Given the description of an element on the screen output the (x, y) to click on. 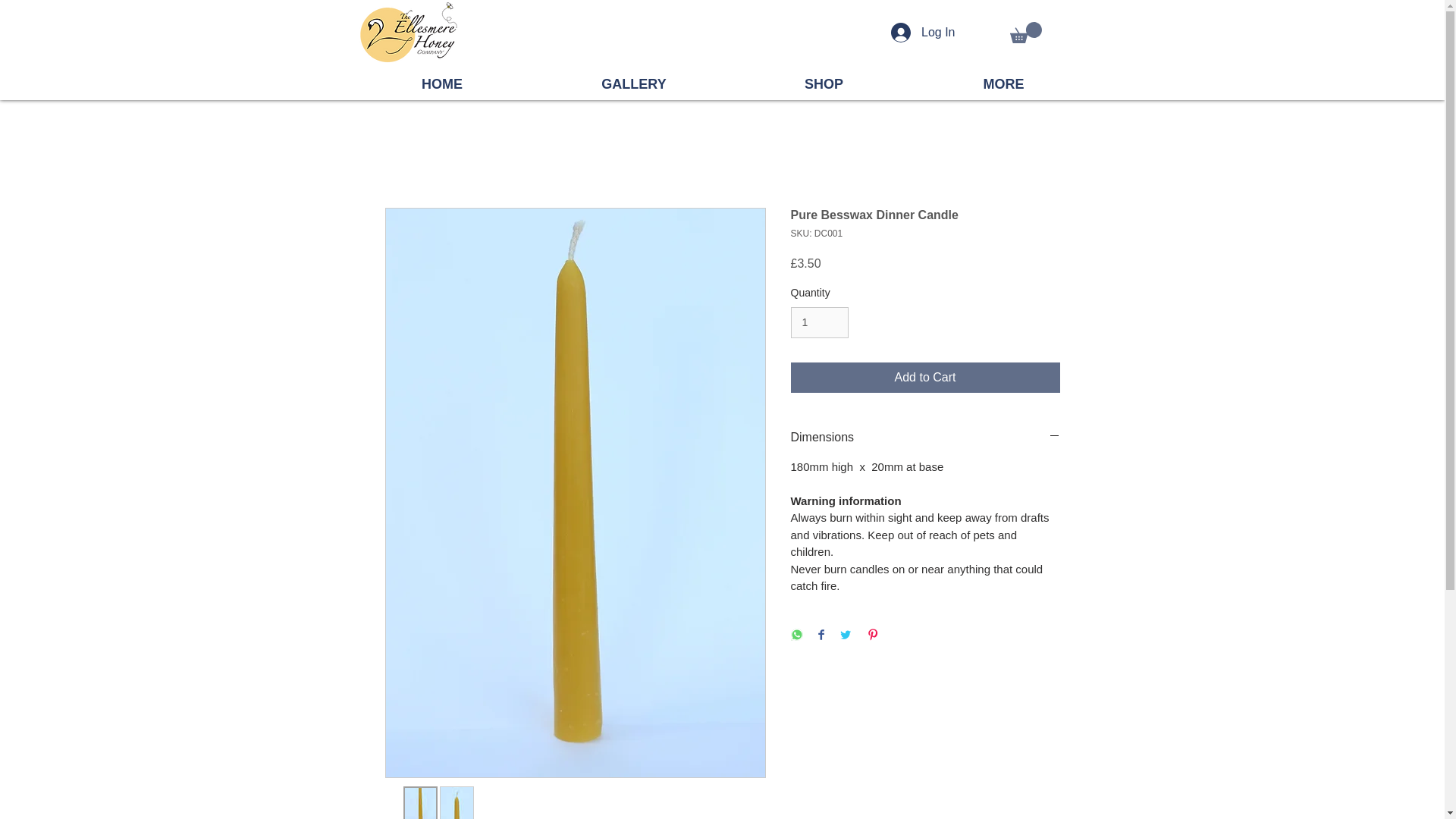
HOME (441, 83)
GALLERY (634, 83)
Log In (922, 32)
Add to Cart (924, 377)
1 (818, 322)
MORE (1002, 83)
Dimensions (924, 437)
